Given the description of an element on the screen output the (x, y) to click on. 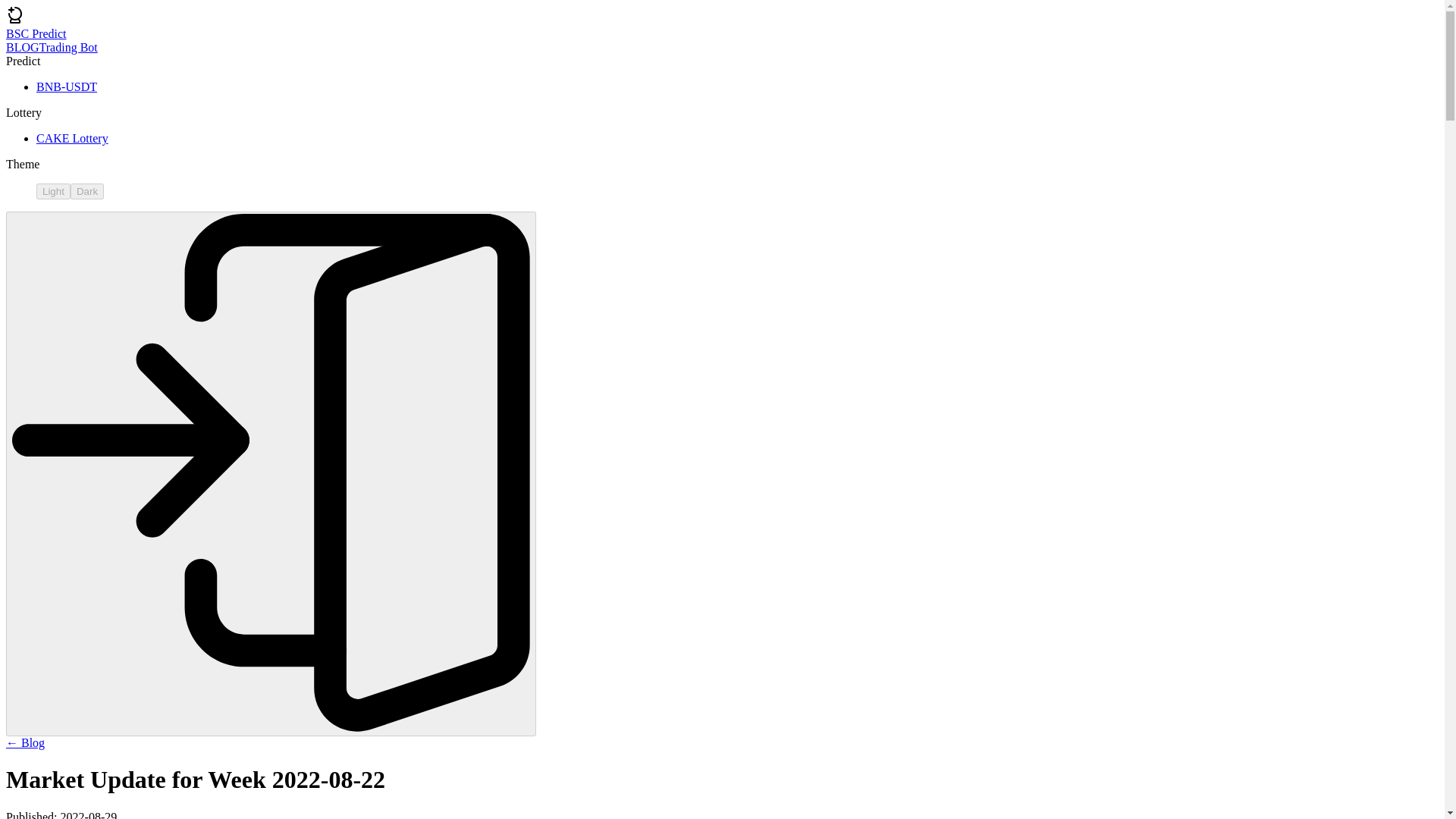
CAKE Lottery (71, 137)
BLOG (22, 47)
BNB-USDT (66, 86)
Dark (87, 191)
Light (52, 191)
Light (53, 191)
Trading Bot (68, 47)
Dark (86, 191)
